Given the description of an element on the screen output the (x, y) to click on. 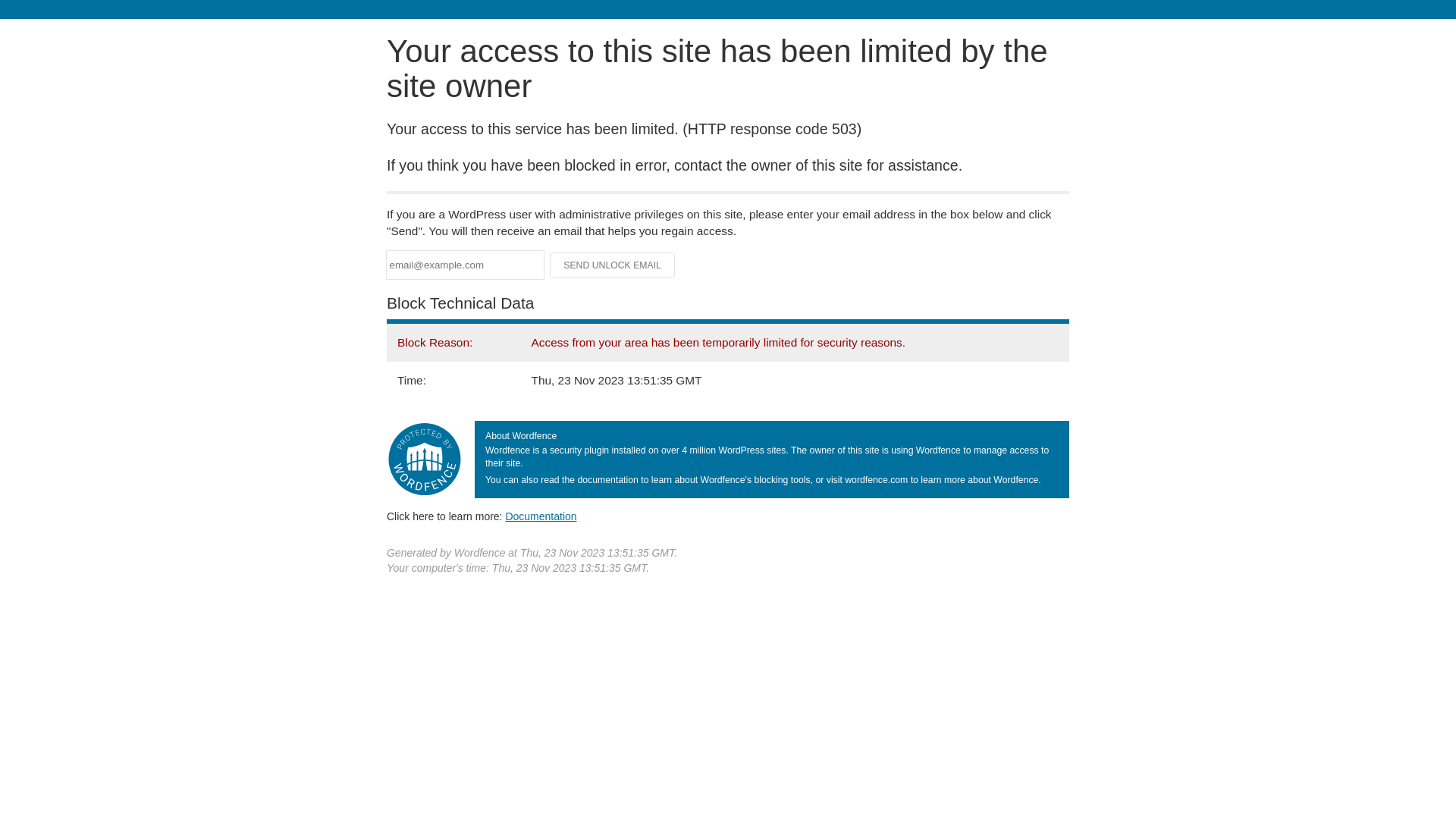
Send Unlock Email Element type: text (612, 265)
Documentation Element type: text (540, 516)
